Given the description of an element on the screen output the (x, y) to click on. 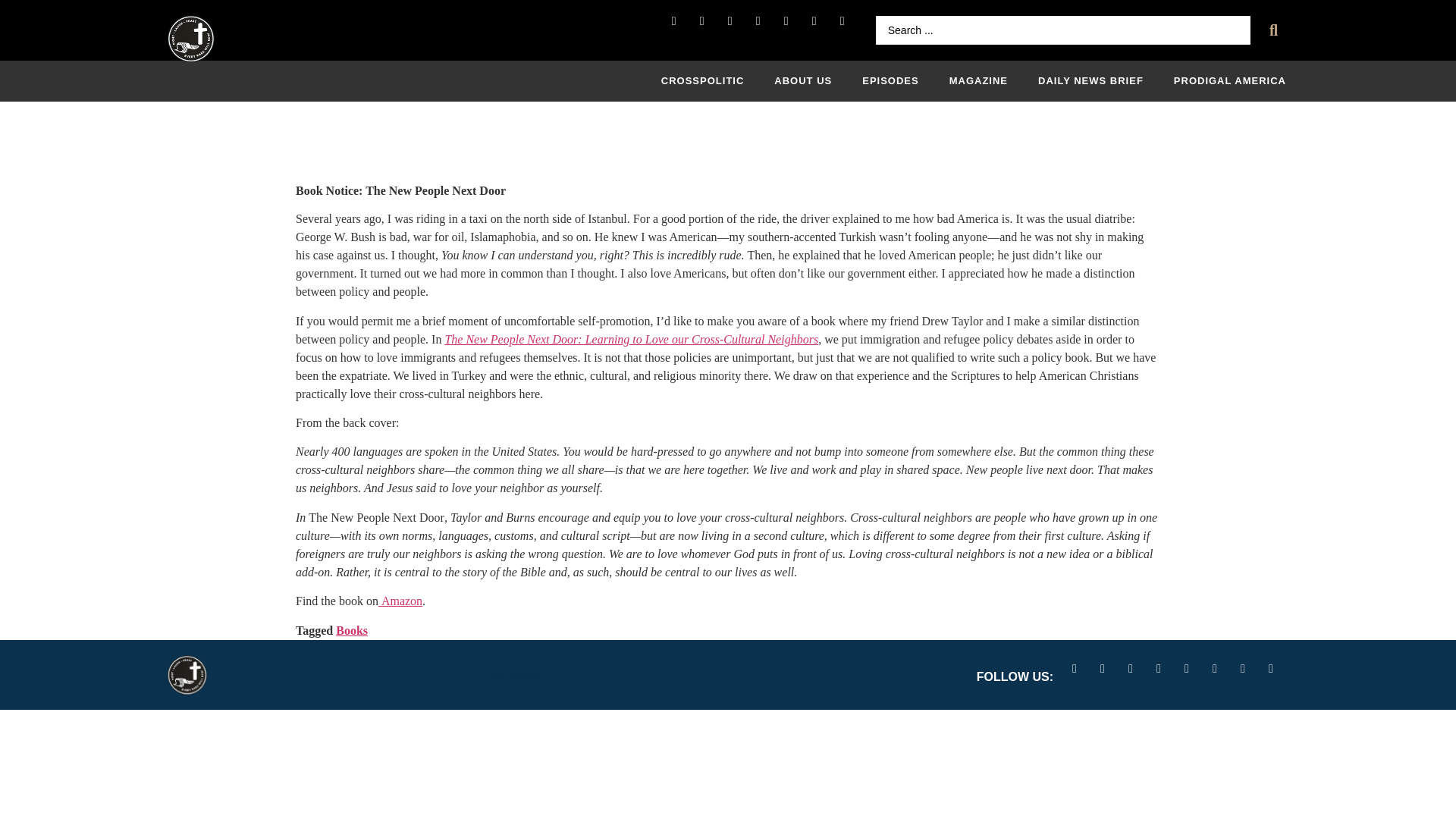
PRODIGAL AMERICA (1229, 80)
MAGAZINE (978, 80)
CROSSPOLITIC (703, 80)
Amazon (400, 600)
EPISODES (890, 80)
DAILY NEWS BRIEF (1090, 80)
ABOUT US (802, 80)
